Given the description of an element on the screen output the (x, y) to click on. 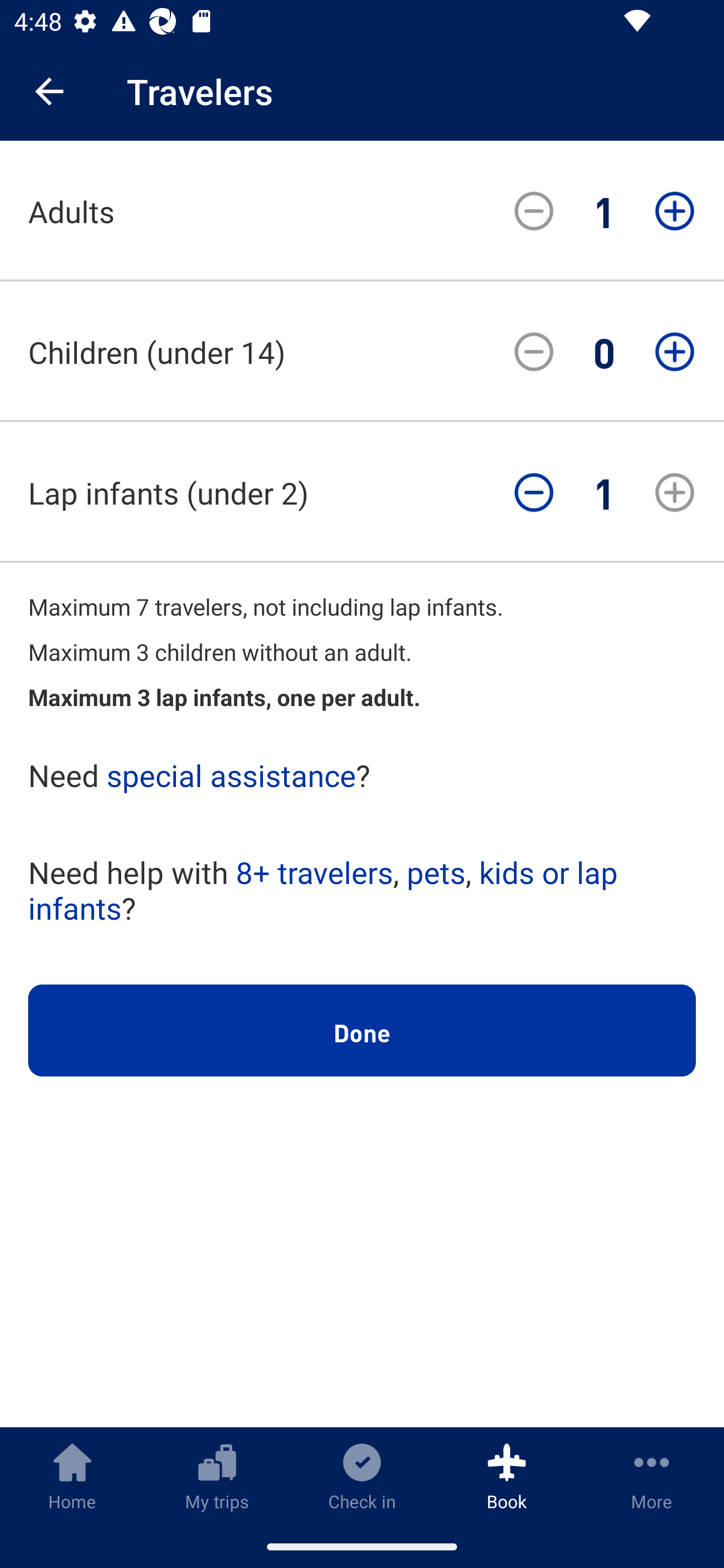
Navigate up (49, 91)
Decrease adults (533, 210)
Increase adults (674, 210)
Decrease children (533, 351)
Increase children (674, 351)
Decrease infants (533, 492)
Increase infants (674, 492)
Depart and return (361, 687)
Done (361, 1030)
Home (72, 1475)
My trips (216, 1475)
Check in (361, 1475)
More (651, 1475)
